Given the description of an element on the screen output the (x, y) to click on. 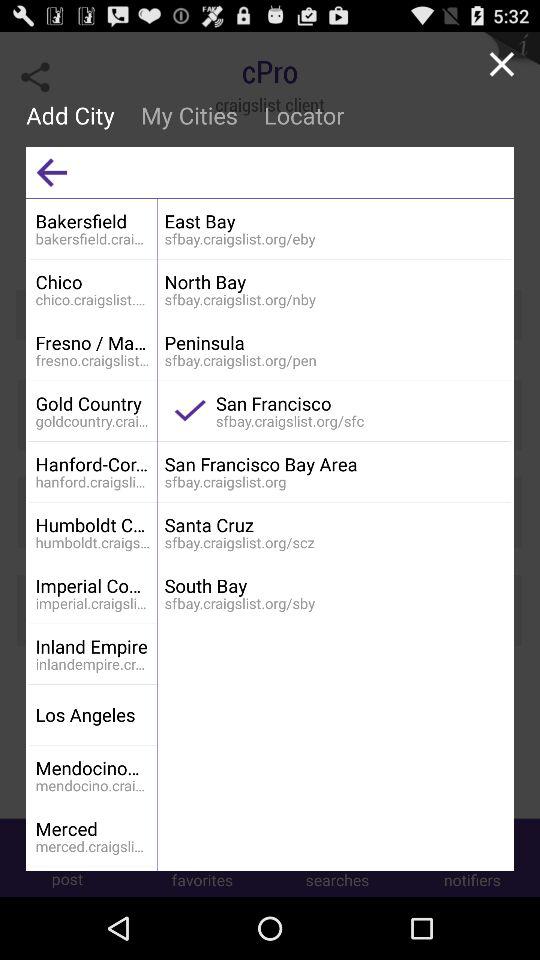
click my cities item (188, 115)
